Given the description of an element on the screen output the (x, y) to click on. 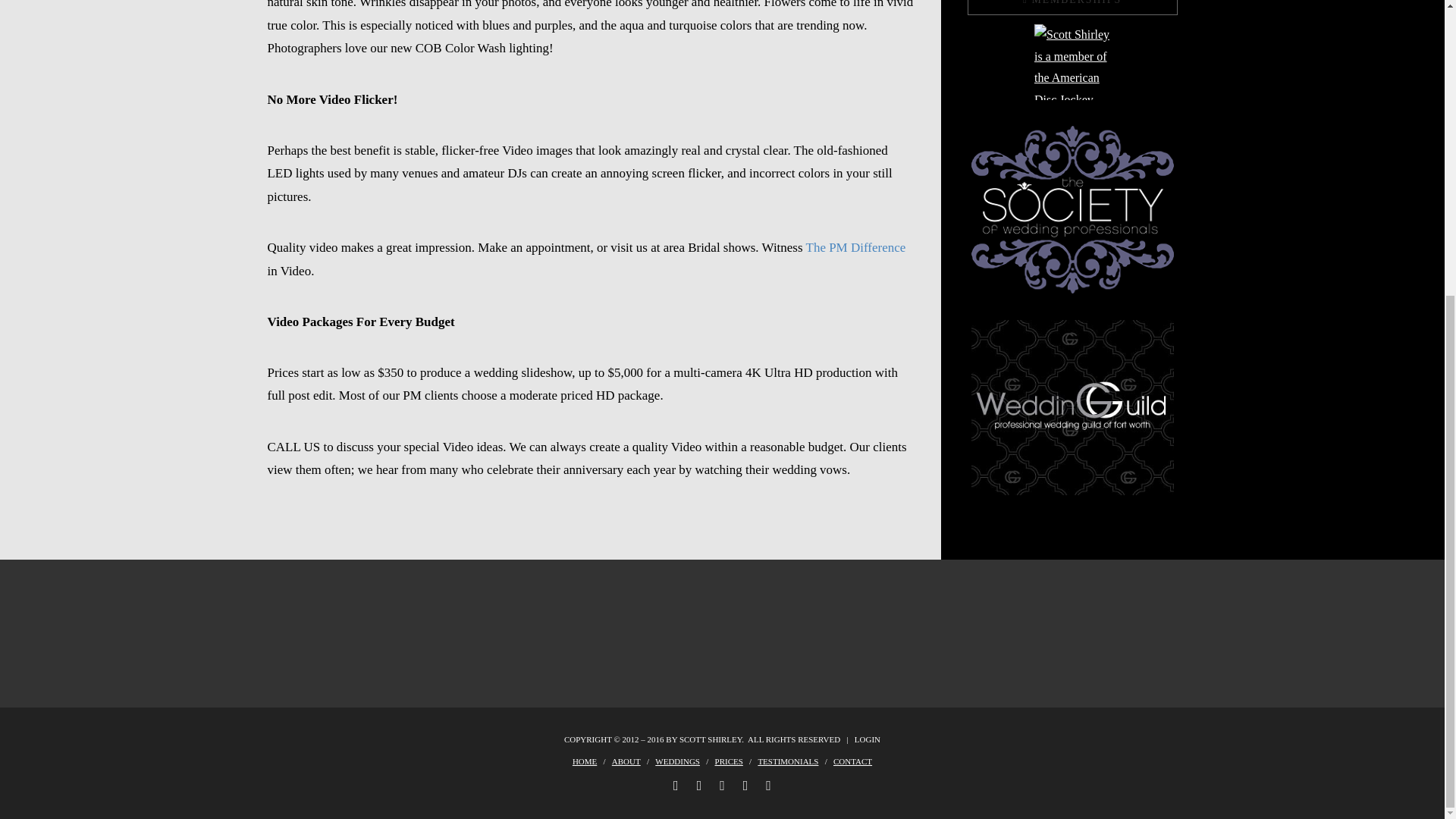
The PM Difference (855, 247)
Instagram (745, 785)
Facebook (675, 785)
LinkedIn (722, 785)
Pinterest (768, 785)
